Given the description of an element on the screen output the (x, y) to click on. 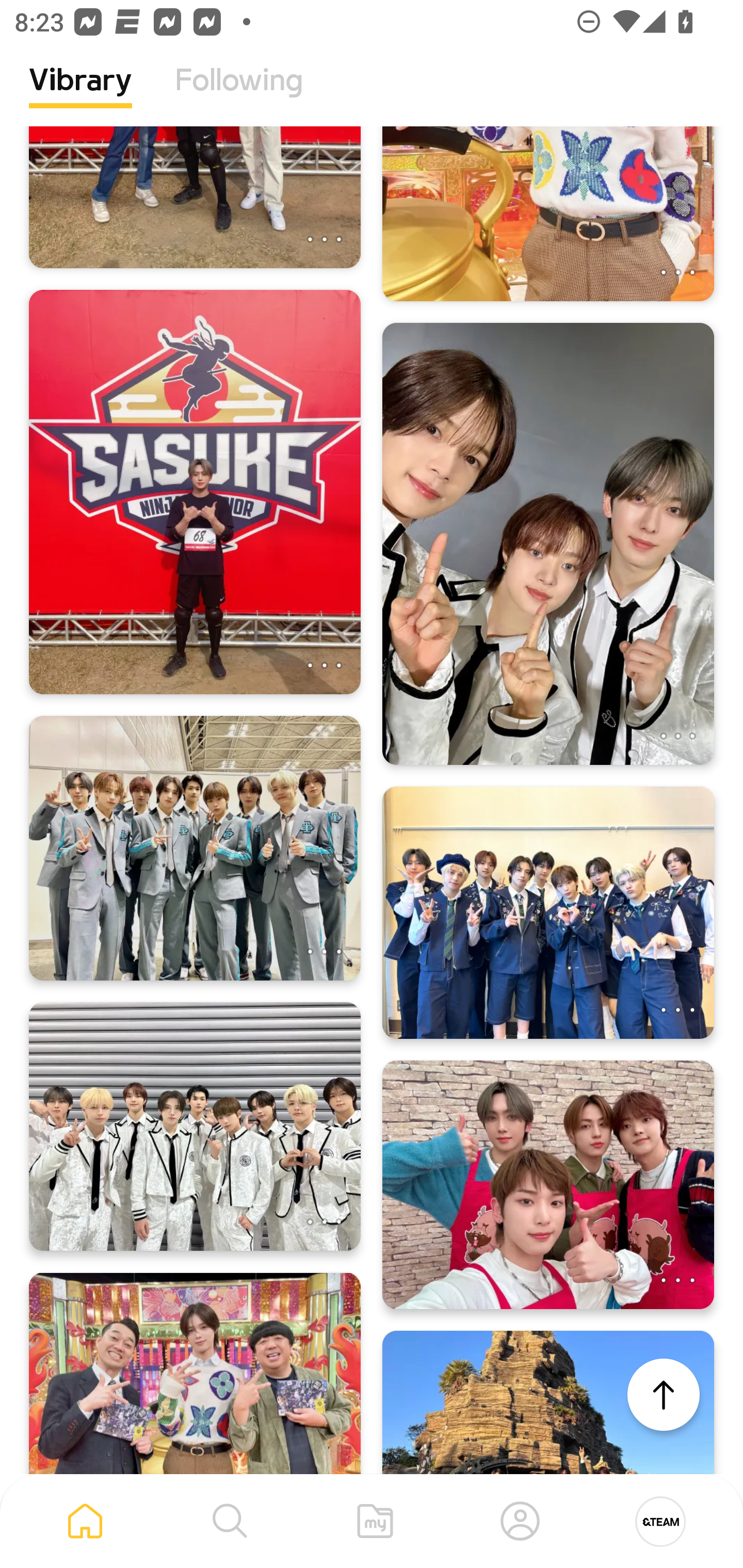
Vibrary (80, 95)
Following (239, 95)
